Given the description of an element on the screen output the (x, y) to click on. 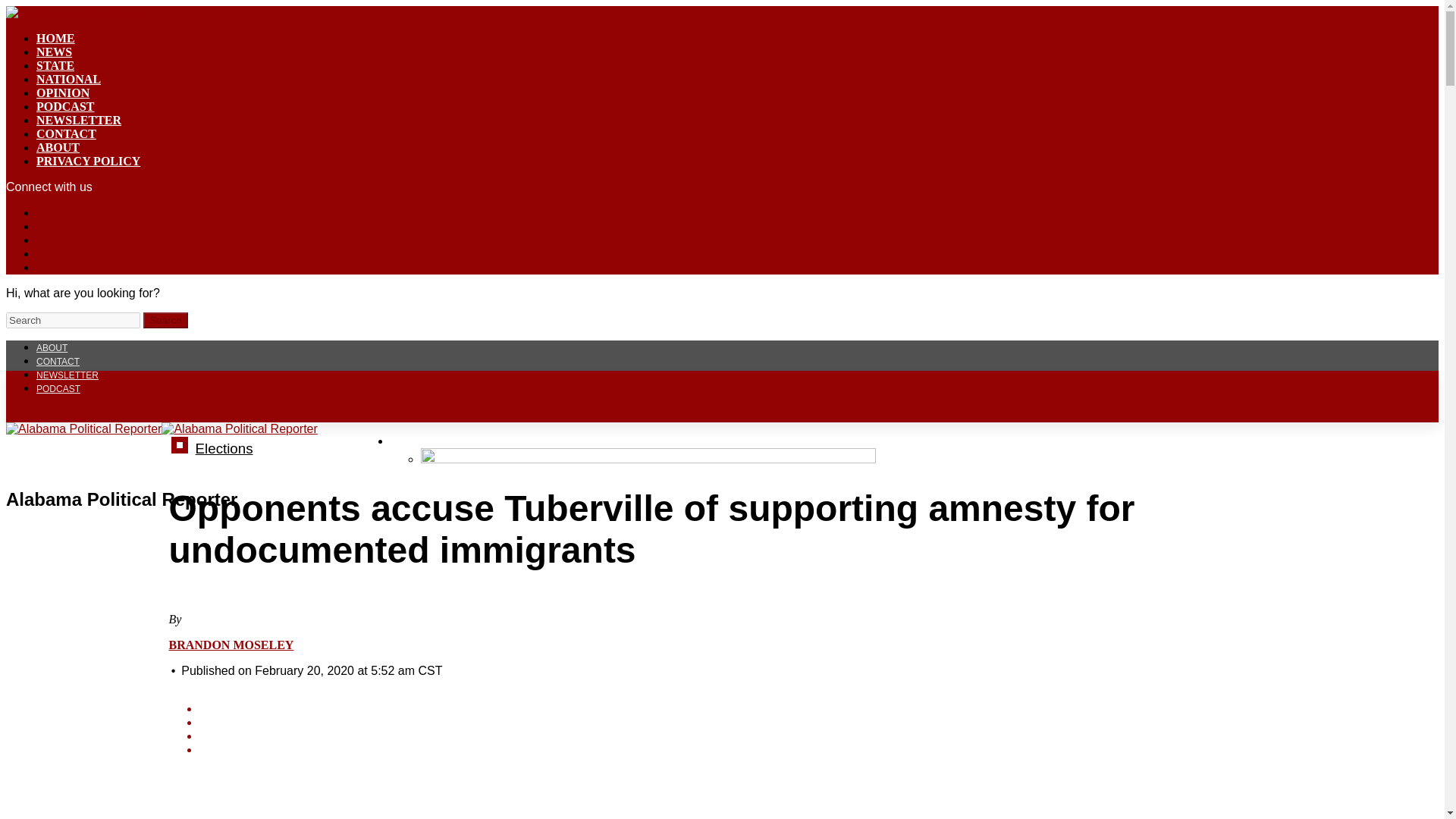
Search (164, 320)
NEWSLETTER (78, 119)
CONTACT (66, 133)
HOME (55, 38)
Share on Flipboard (736, 735)
OPINION (62, 92)
STATE (55, 65)
PRIVACY POLICY (87, 160)
PODCAST (65, 106)
Posts by Brandon Moseley (231, 644)
CONTACT (58, 361)
ELECTIONS (422, 440)
Search (72, 320)
Search (164, 320)
PODCAST (58, 388)
